Given the description of an element on the screen output the (x, y) to click on. 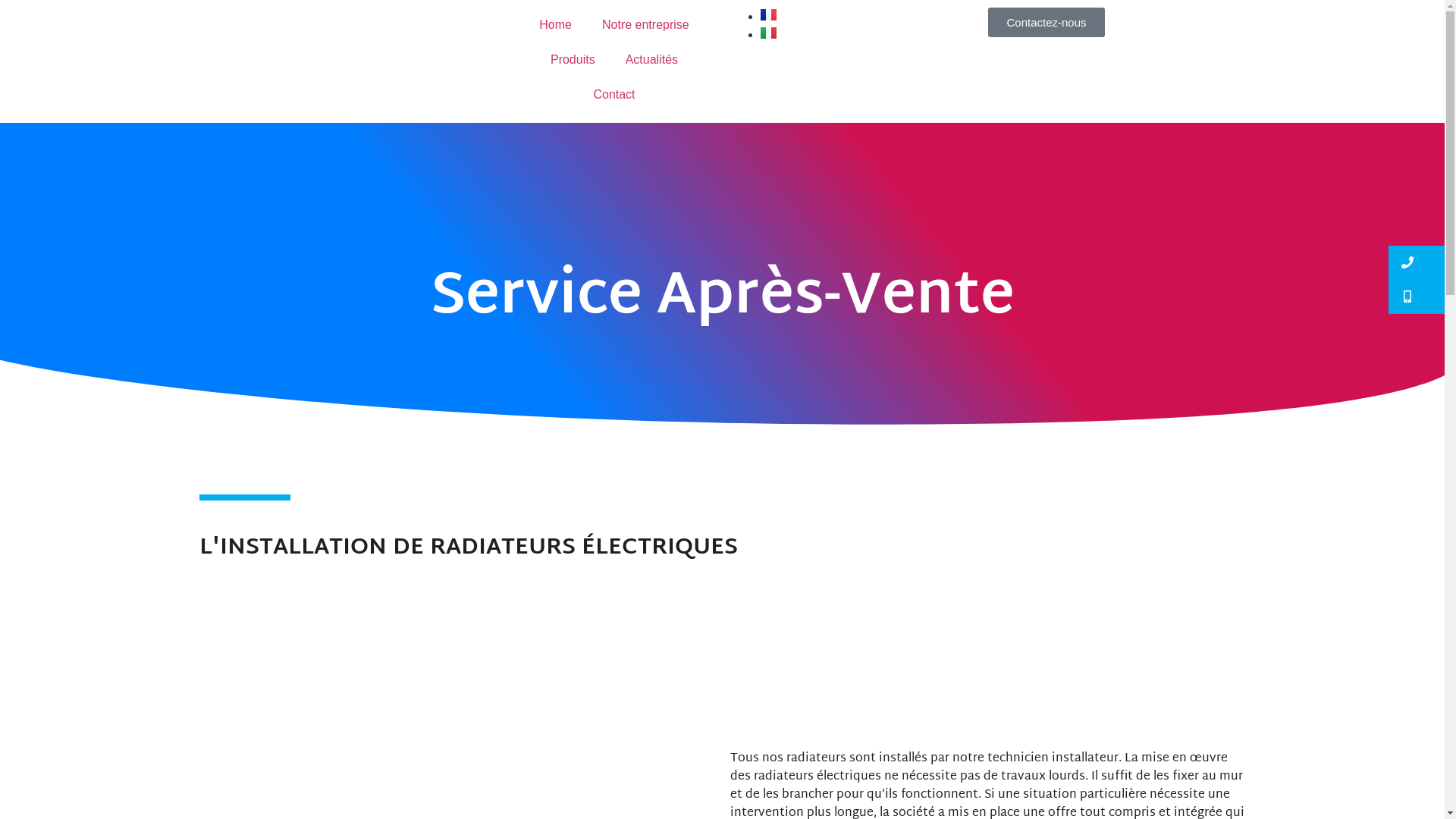
Home Element type: text (555, 24)
Contactez-nous Element type: text (1046, 22)
Notre entreprise Element type: text (645, 24)
  Element type: text (1416, 262)
  Element type: text (1416, 296)
Produits Element type: text (572, 59)
Contact Element type: text (613, 94)
